Given the description of an element on the screen output the (x, y) to click on. 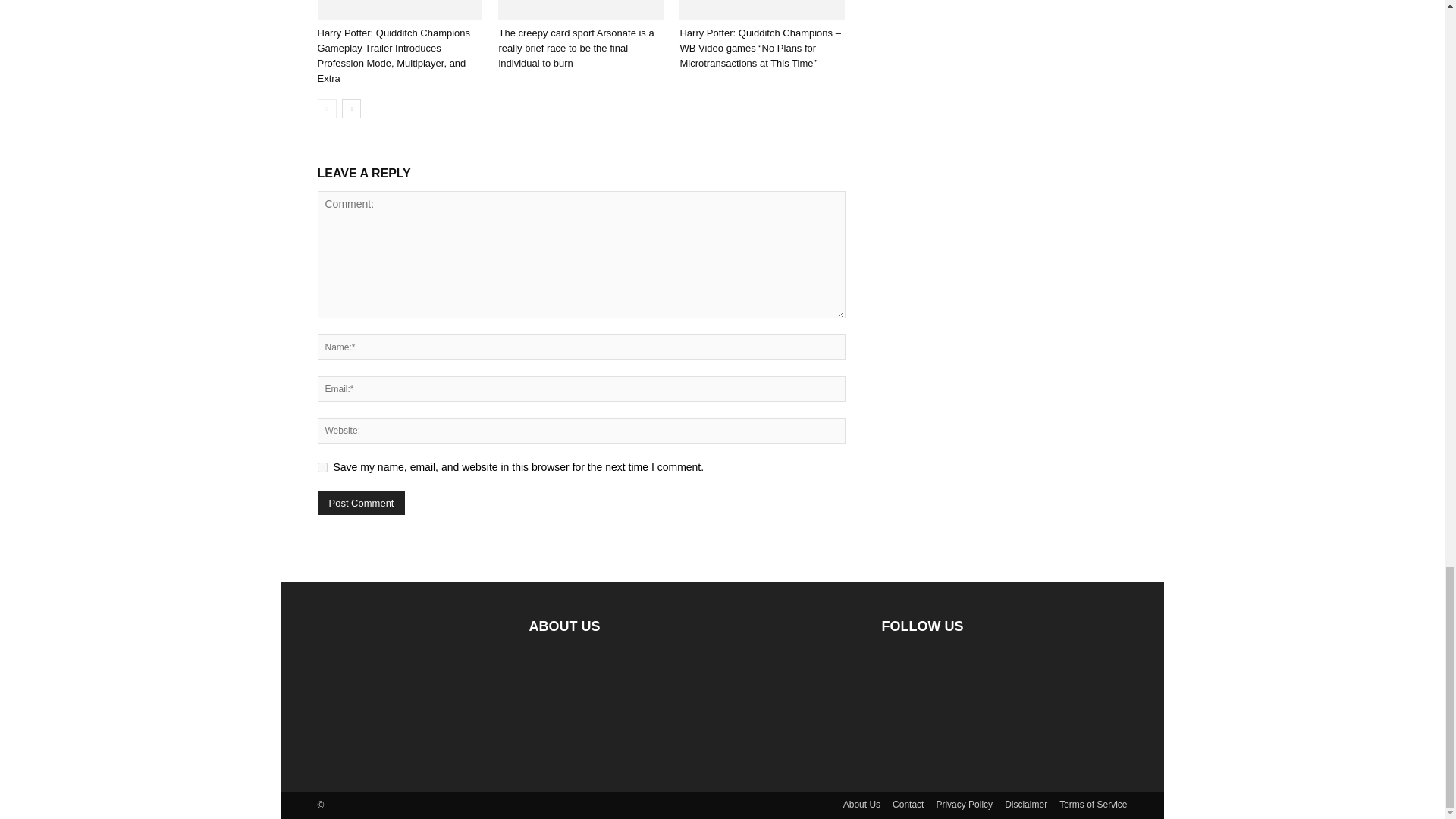
Post Comment (360, 503)
yes (321, 467)
